Given the description of an element on the screen output the (x, y) to click on. 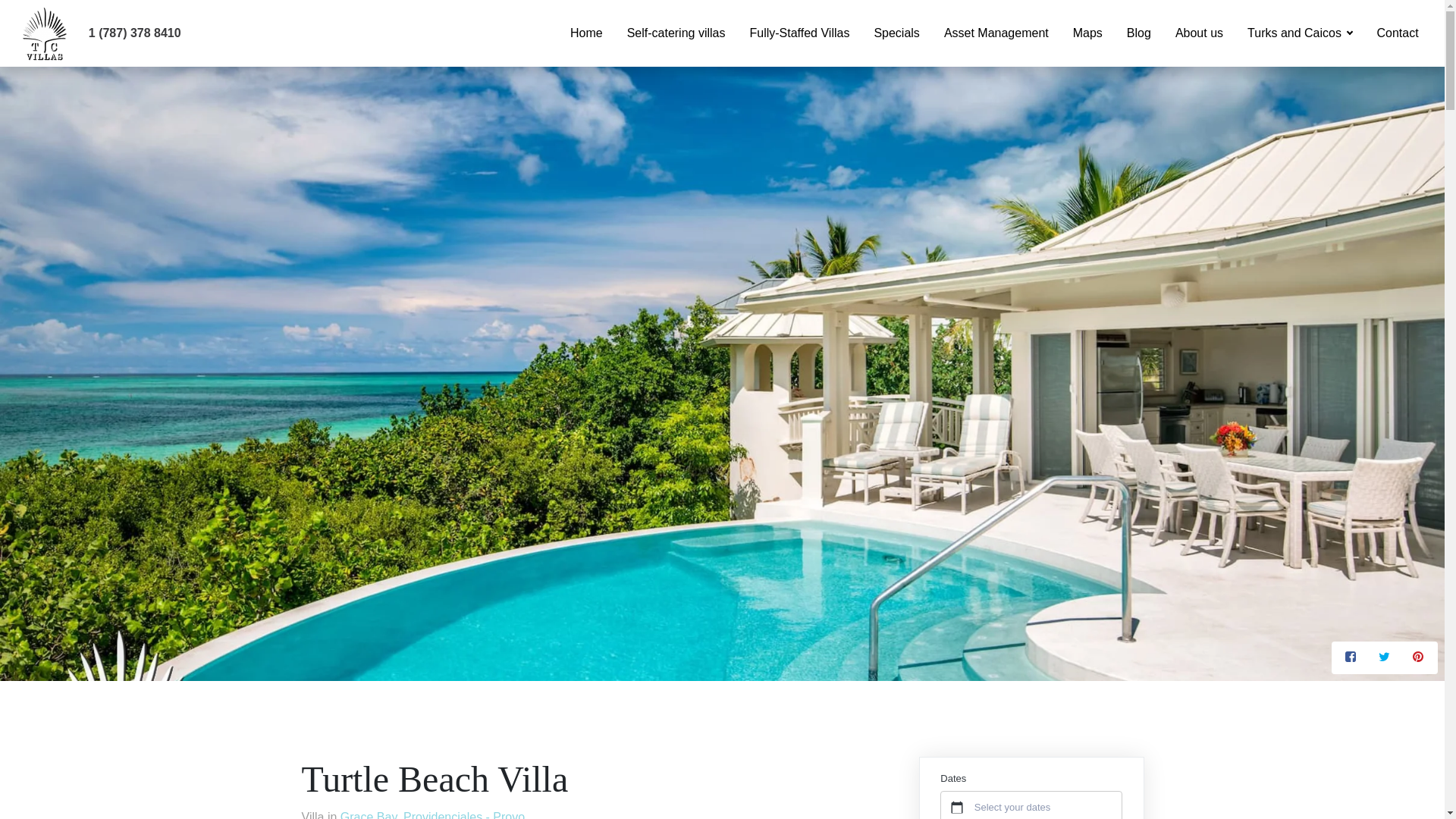
Contact (1396, 33)
Maps (1088, 33)
Grace Bay (368, 814)
Providenciales - Provo (463, 814)
About us (1198, 33)
Asset Management (996, 33)
Home (585, 33)
Self-catering villas (676, 33)
Specials (896, 33)
Fully-Staffed Villas (798, 33)
